Given the description of an element on the screen output the (x, y) to click on. 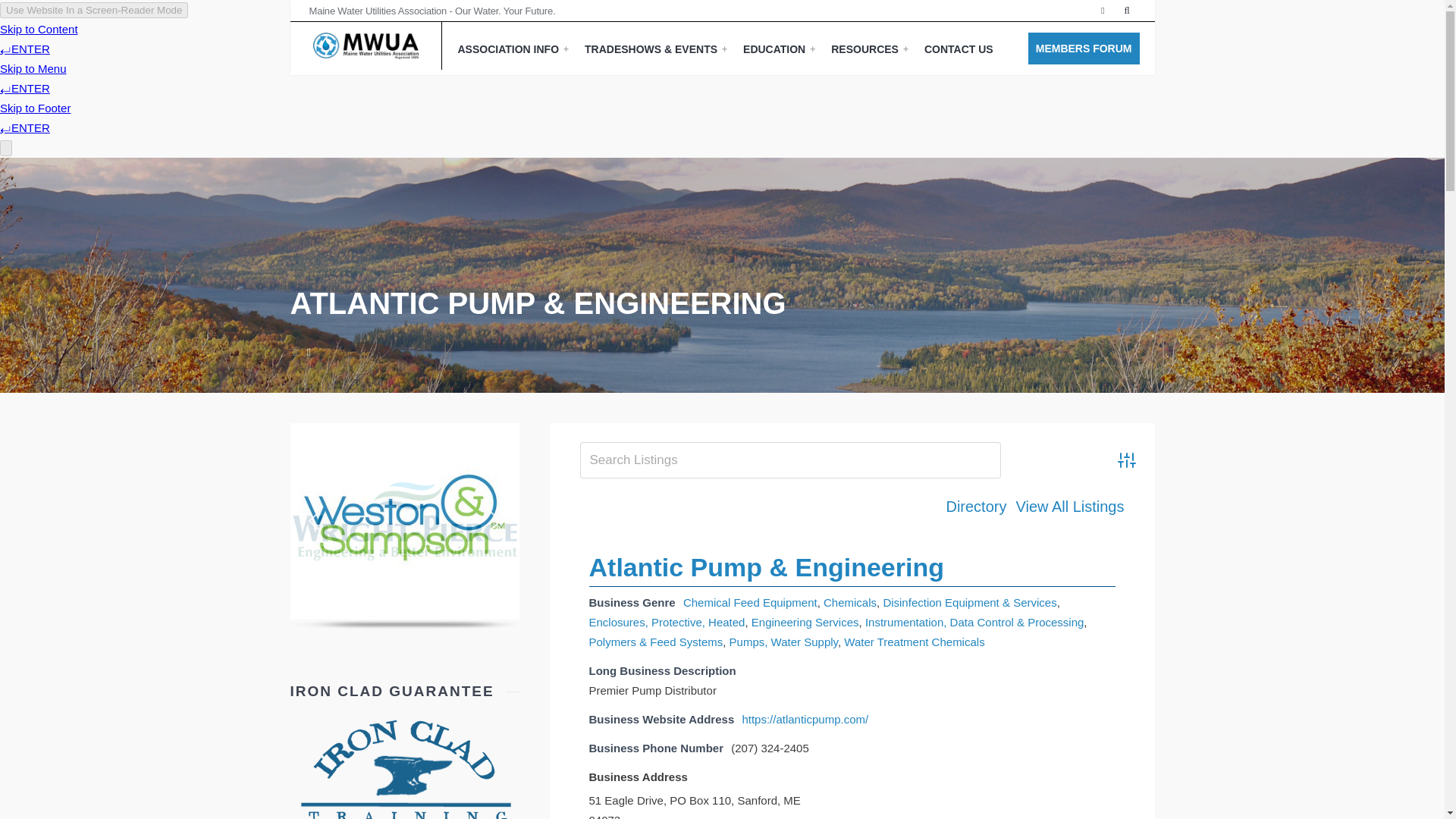
ASSOCIATION INFO (513, 49)
Facebook (1102, 10)
Find Listings (1059, 460)
EDUCATION (780, 49)
RESOURCES (870, 49)
Quick search keywords (790, 460)
